Given the description of an element on the screen output the (x, y) to click on. 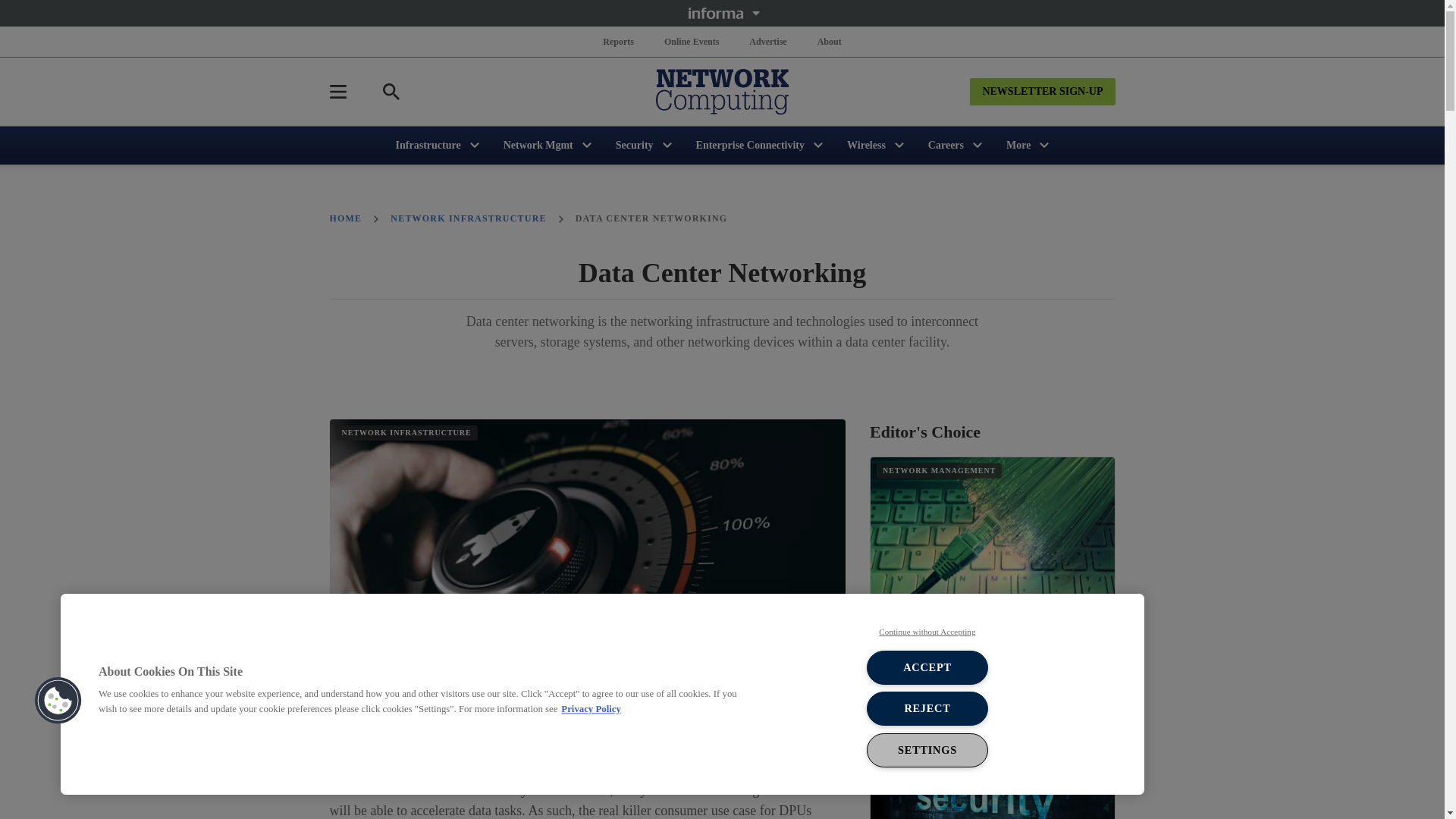
Online Events (691, 41)
Advertise (767, 41)
Network Computing Logo (722, 91)
About (828, 41)
Cookies Button (57, 700)
Reports (618, 41)
NEWSLETTER SIGN-UP (1042, 90)
